Given the description of an element on the screen output the (x, y) to click on. 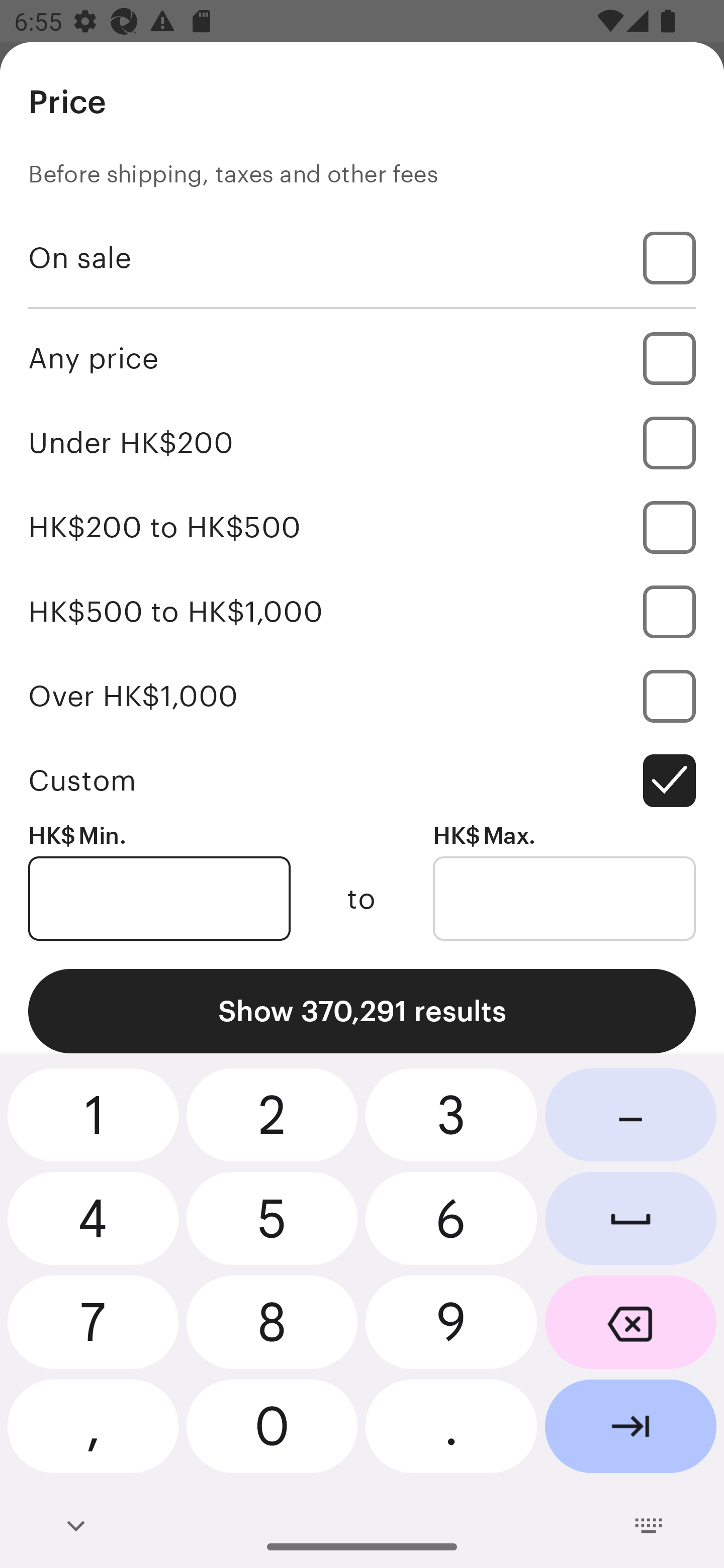
On sale (362, 257)
Any price (362, 357)
Under HK$200 (362, 441)
HK$200 to HK$500 (362, 526)
HK$500 to HK$1,000 (362, 611)
Over HK$1,000 (362, 695)
Custom (362, 780)
Show 370,291 results (361, 1011)
